Given the description of an element on the screen output the (x, y) to click on. 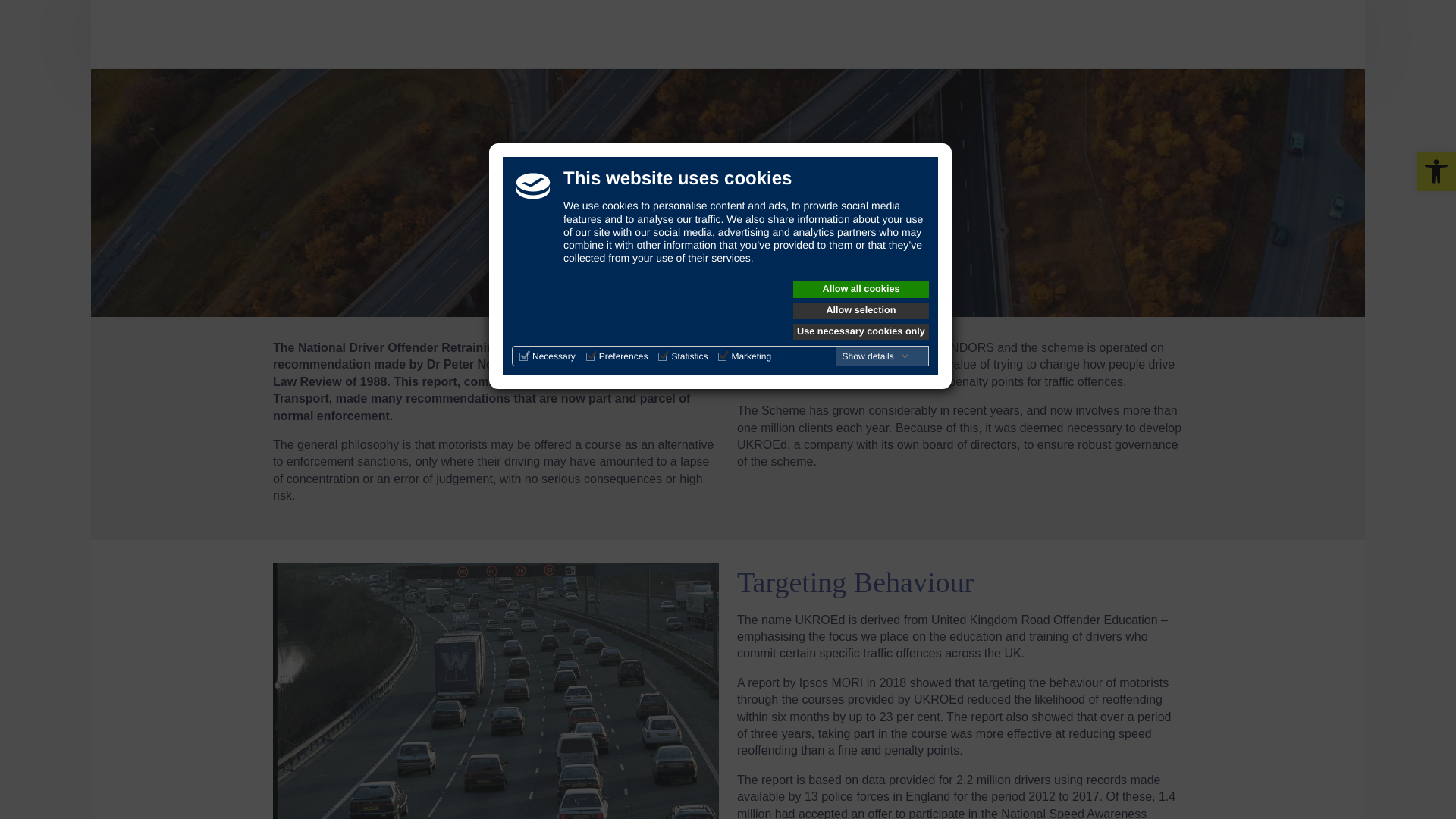
Show details (876, 356)
Allow selection (860, 310)
Use necessary cookies only (860, 331)
Accessibility Tools (1435, 170)
Allow all cookies (860, 289)
